Given the description of an element on the screen output the (x, y) to click on. 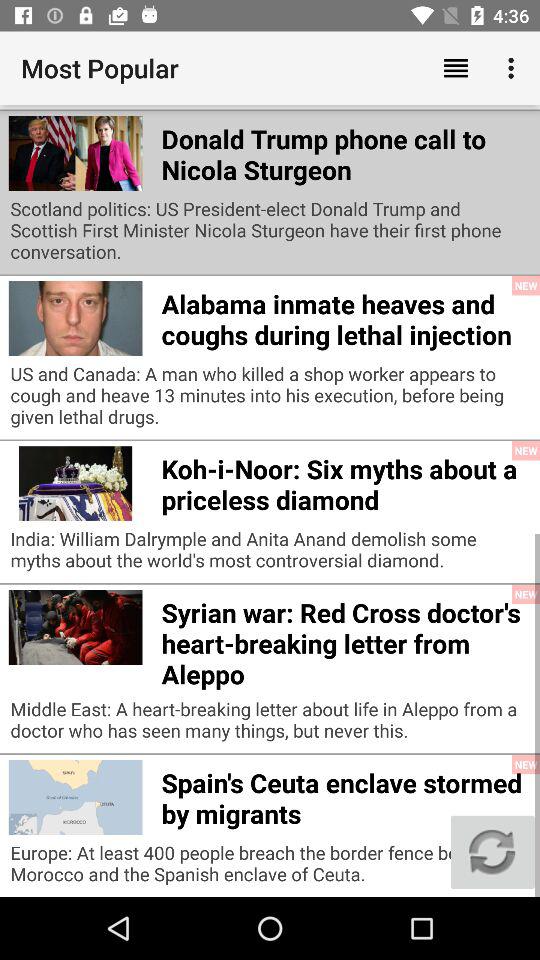
open alabama inmate heaves item (345, 316)
